Given the description of an element on the screen output the (x, y) to click on. 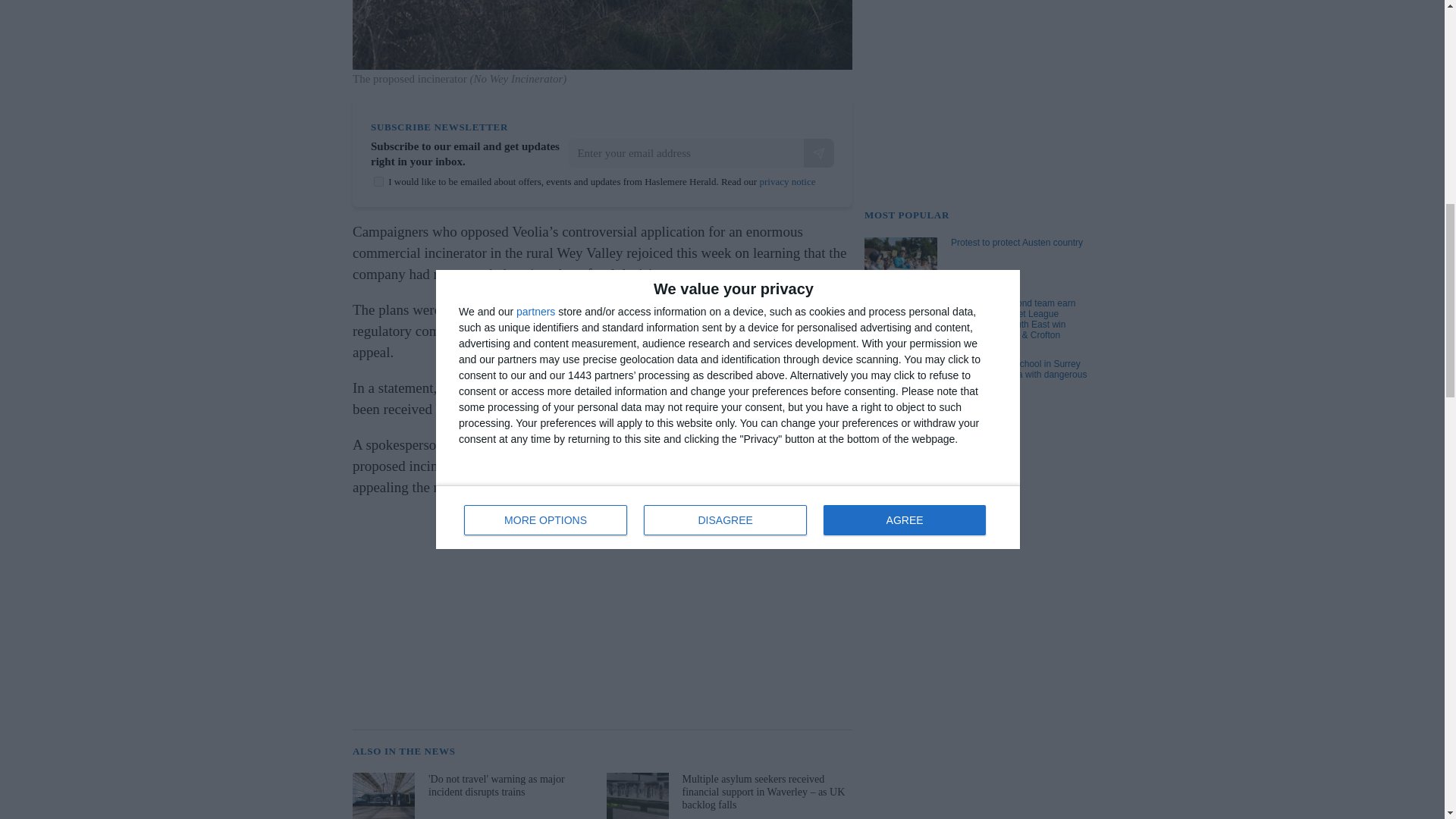
Holybourne (592, 465)
privacy notice (786, 181)
'Do not travel' warning as major incident disrupts trains (473, 796)
Hampshire County Council (710, 309)
